Given the description of an element on the screen output the (x, y) to click on. 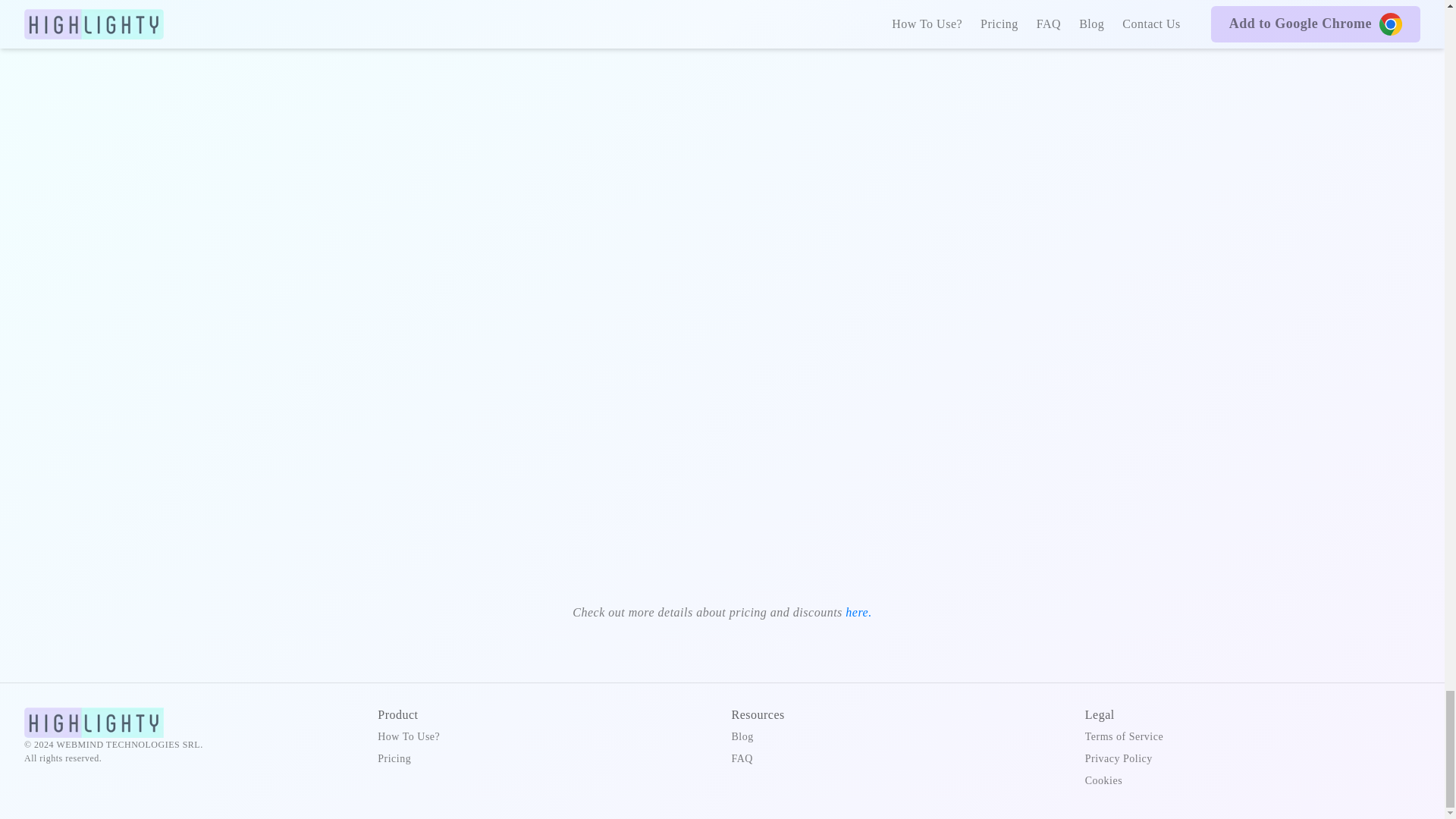
Terms of Service (1252, 736)
Cookies (1252, 780)
here. (857, 612)
FAQ (897, 758)
How To Use? (545, 736)
Pricing (545, 758)
Blog (897, 736)
Privacy Policy (1252, 758)
